Given the description of an element on the screen output the (x, y) to click on. 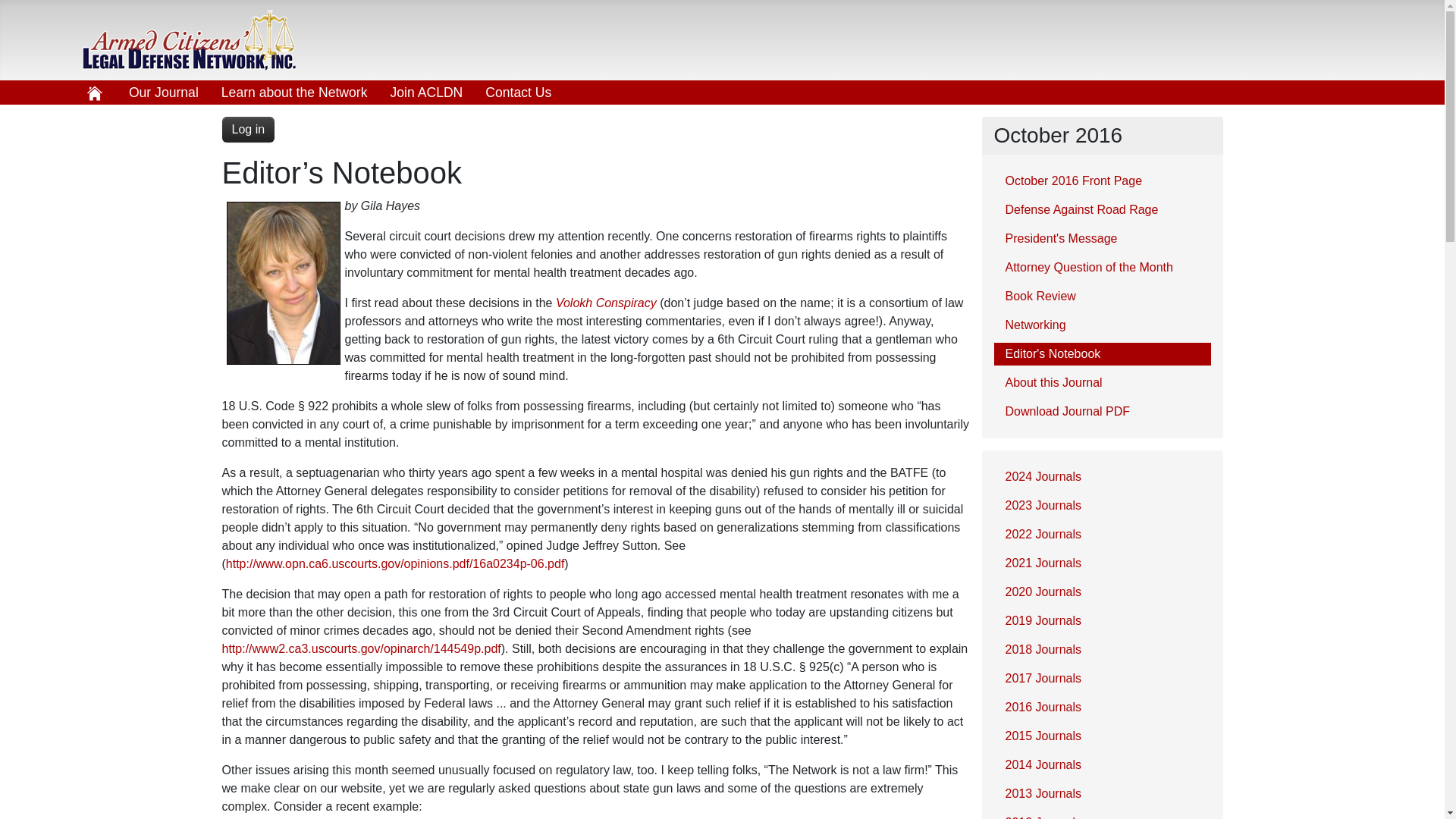
2019 Journals (1100, 620)
Join ACLDN (426, 92)
Log in (248, 129)
About this Journal (1100, 382)
Our Journal (163, 92)
2016 Journals (1100, 707)
2023 Journals (1100, 505)
2018 Journals (1100, 649)
2013 Journals (1100, 793)
2024 Journals (1100, 477)
2021 Journals (1100, 563)
Book Review (1100, 296)
Volokh Conspiracy (606, 302)
2012 Journals (1100, 815)
